Given the description of an element on the screen output the (x, y) to click on. 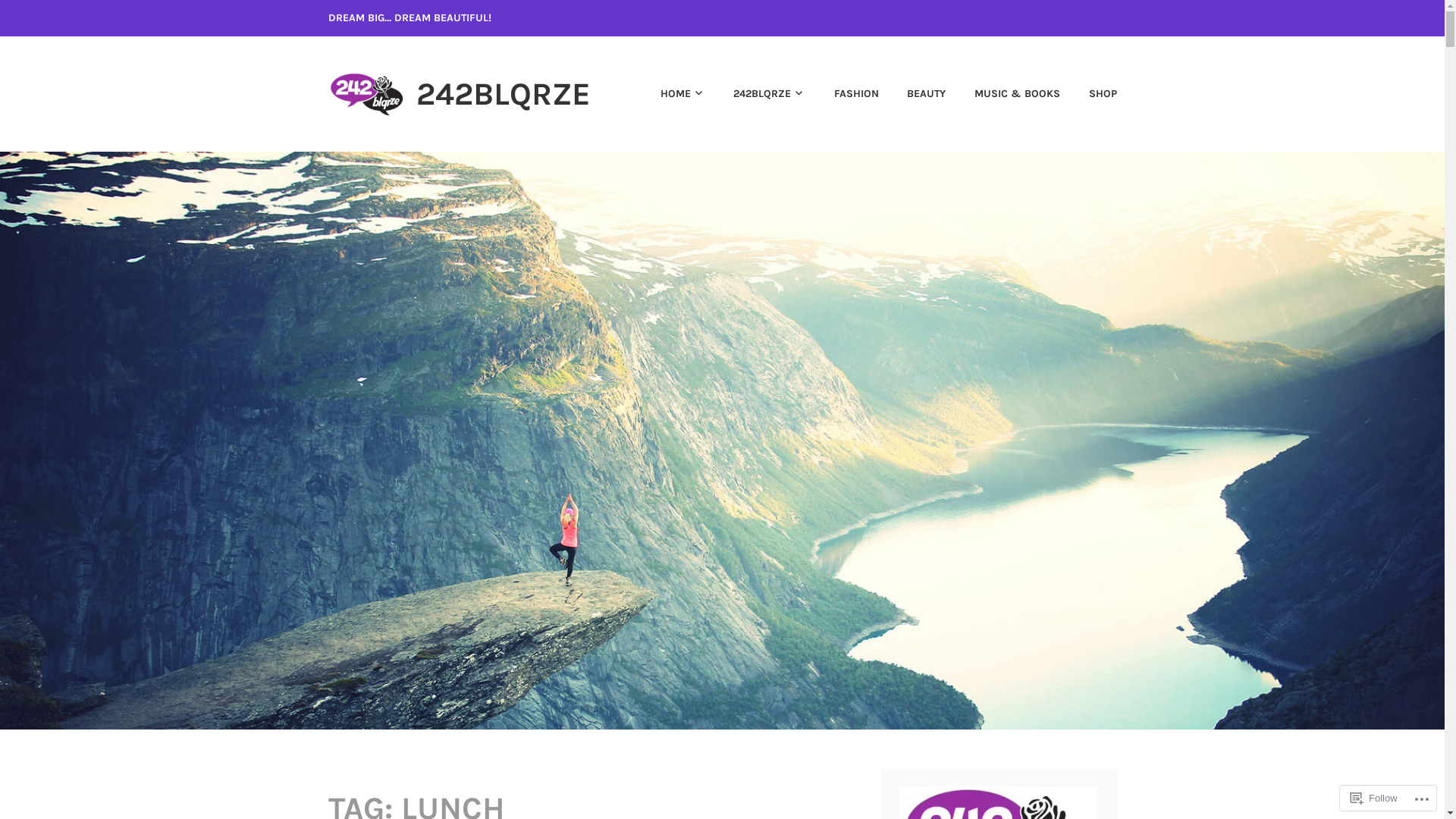
242BLQRZE Element type: text (757, 93)
HOME Element type: text (669, 93)
Follow Element type: text (1373, 797)
MUSIC & BOOKS Element type: text (1004, 93)
FASHION Element type: text (843, 93)
BEAUTY Element type: text (913, 93)
242BLQRZE Element type: text (503, 93)
SHOP Element type: text (1090, 93)
Search Element type: text (45, 17)
